Given the description of an element on the screen output the (x, y) to click on. 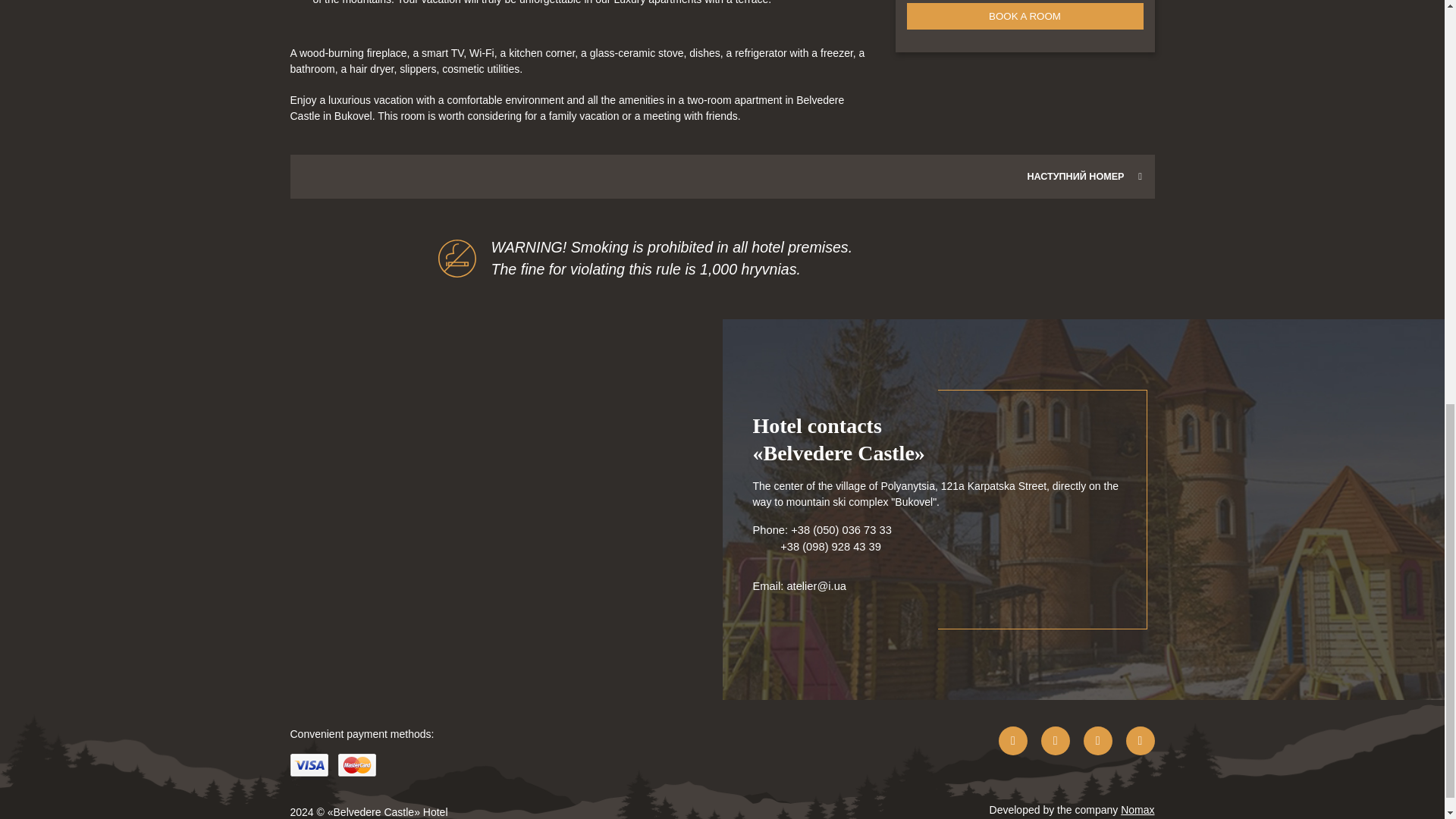
facebook (1012, 740)
Developed by the company Nomax (1072, 811)
BOOK A ROOM (1024, 16)
instagram (1055, 740)
telegram (1139, 740)
youtube (1097, 740)
